Given the description of an element on the screen output the (x, y) to click on. 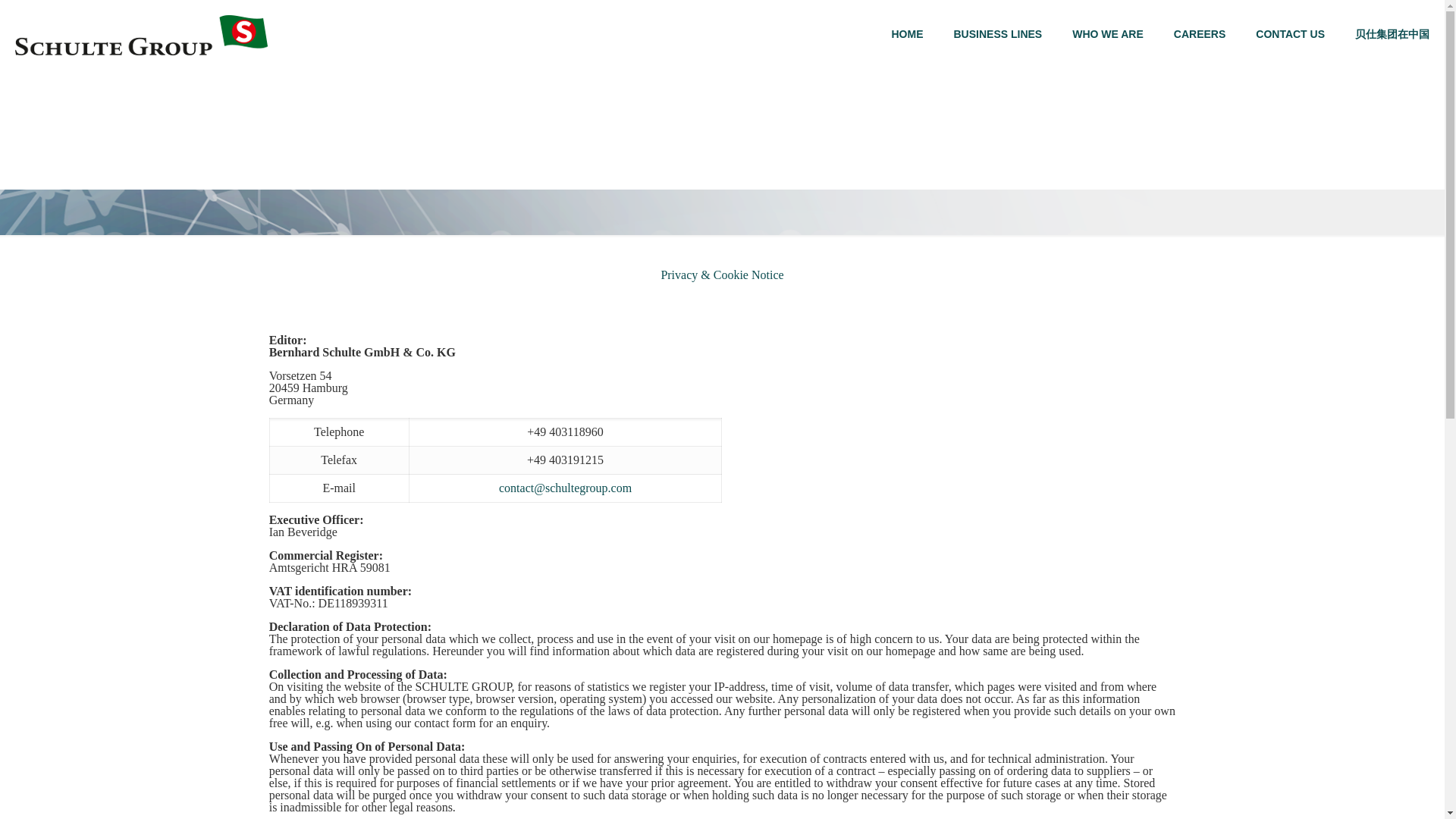
CONTACT US (1289, 33)
CAREERS (1199, 33)
BUSINESS LINES (998, 33)
HOME (907, 33)
WHO WE ARE (1107, 33)
Schulte Group (140, 33)
